Given the description of an element on the screen output the (x, y) to click on. 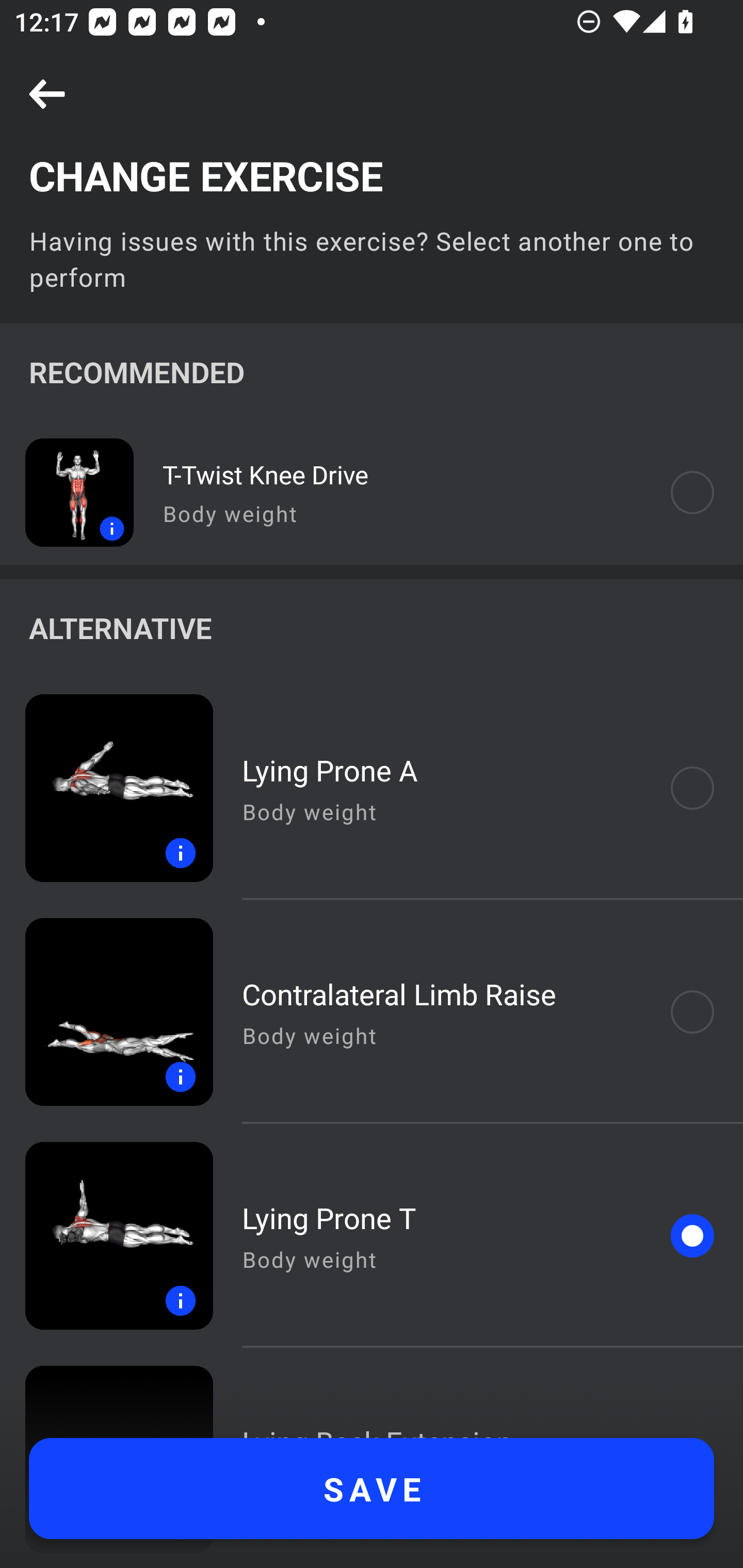
Navigation icon (46, 94)
details T-Twist Knee Drive Body weight (371, 492)
details (66, 492)
details Lying Prone A Body weight (371, 787)
details (106, 787)
details Contralateral Limb Raise Body weight (371, 1012)
details (106, 1012)
details Lying Prone T Body weight (371, 1236)
details (106, 1236)
SAVE (371, 1488)
